Given the description of an element on the screen output the (x, y) to click on. 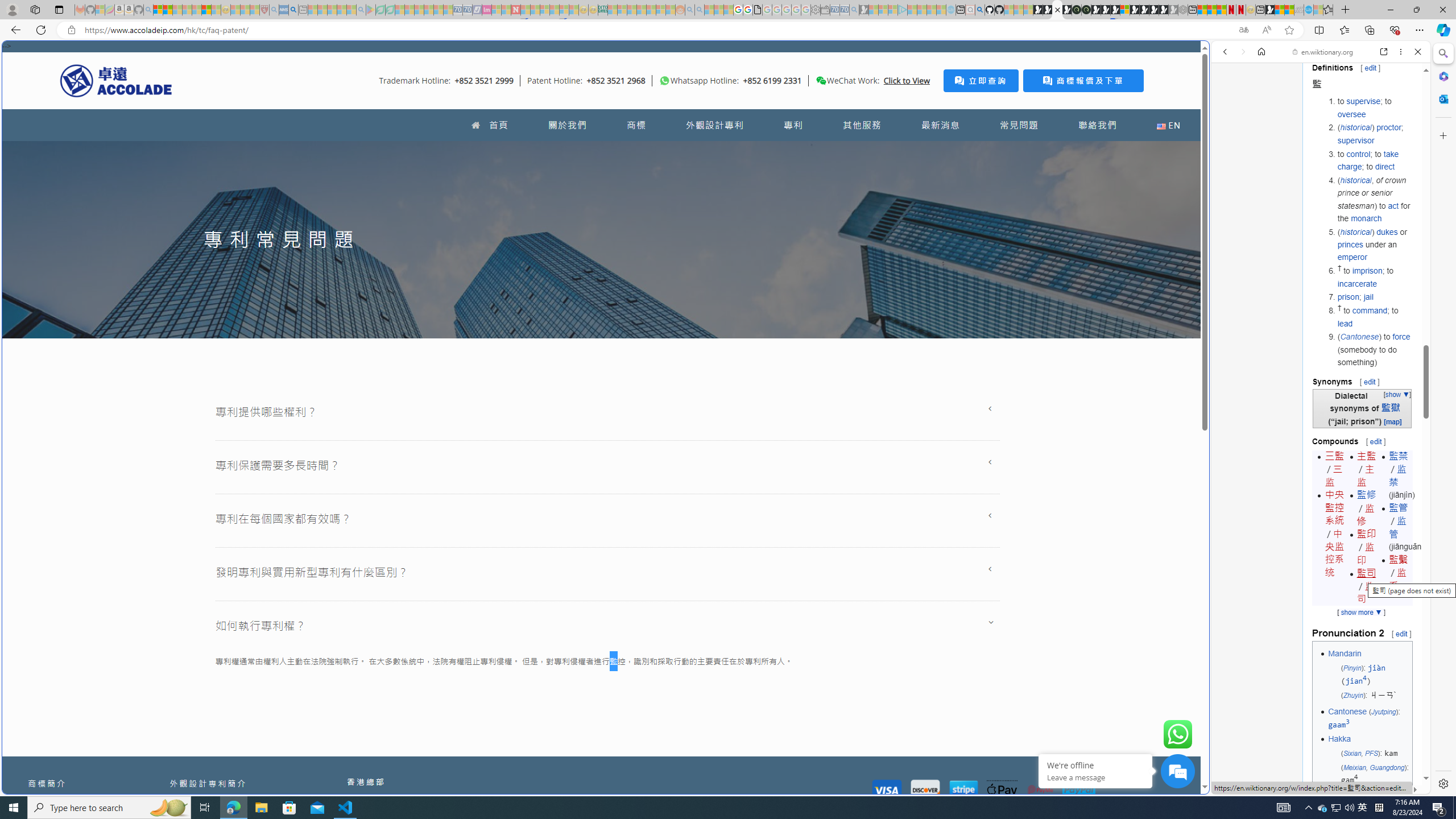
EN (1168, 124)
Microsoft account | Privacy - Sleeping (892, 9)
MSN (1118, 536)
Tabs you've opened (885, 151)
View site information (70, 29)
oversee (1350, 113)
Microsoft Start (205, 9)
Play Cave FRVR in your browser | Games from Microsoft Start (922, 242)
Expert Portfolios - Sleeping (640, 9)
emperor (1351, 257)
Address and search bar (658, 29)
Favorites (922, 683)
